Given the description of an element on the screen output the (x, y) to click on. 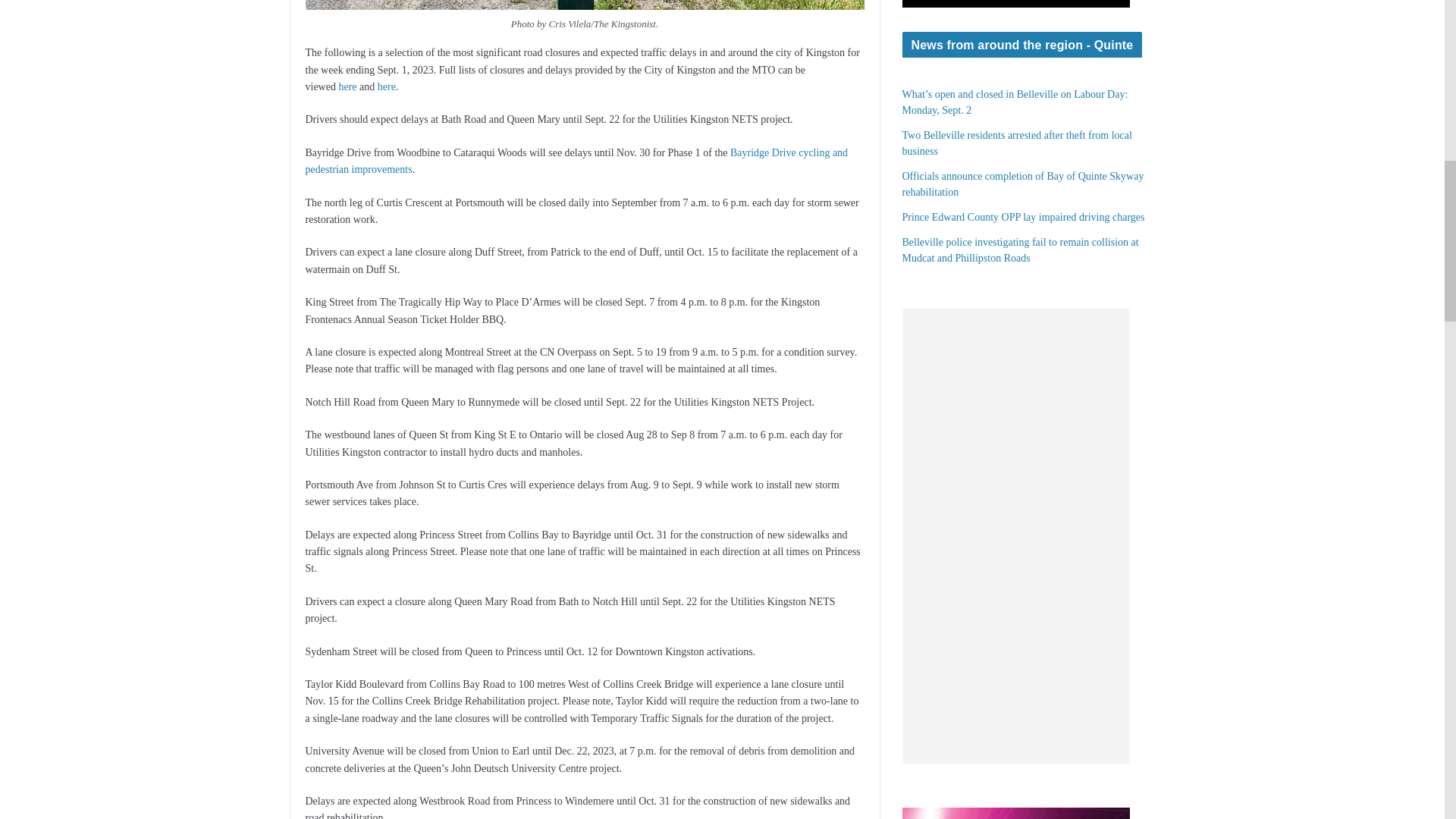
here (386, 86)
here (346, 86)
Bayridge Drive cycling and pedestrian improvements (575, 161)
